Given the description of an element on the screen output the (x, y) to click on. 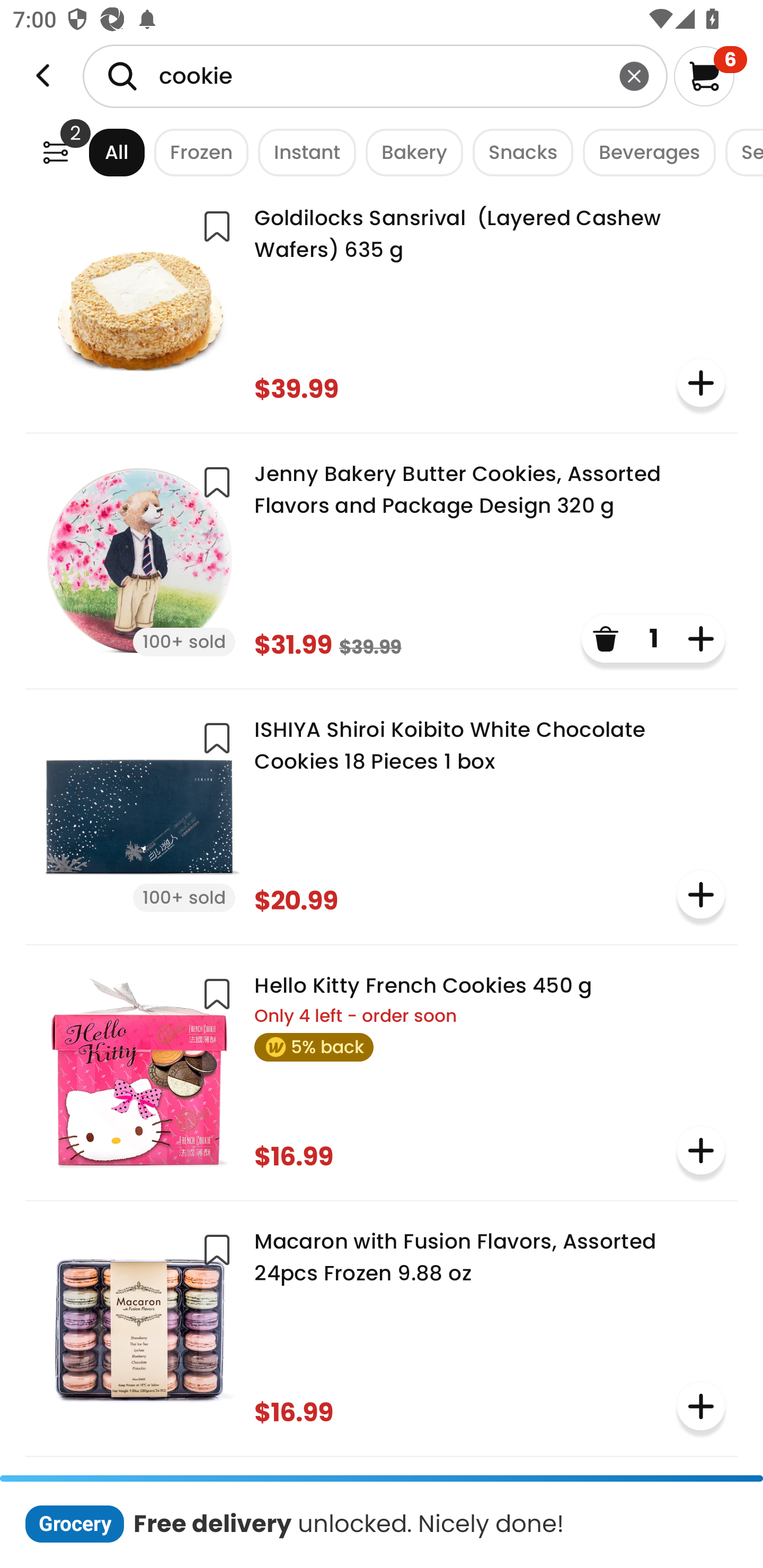
cookie (374, 75)
6 (709, 75)
Weee! (42, 76)
Weee! (55, 151)
All (99, 151)
Frozen (196, 151)
Instant (302, 151)
Bakery (409, 151)
Snacks (518, 151)
Beverages (644, 151)
